Given the description of an element on the screen output the (x, y) to click on. 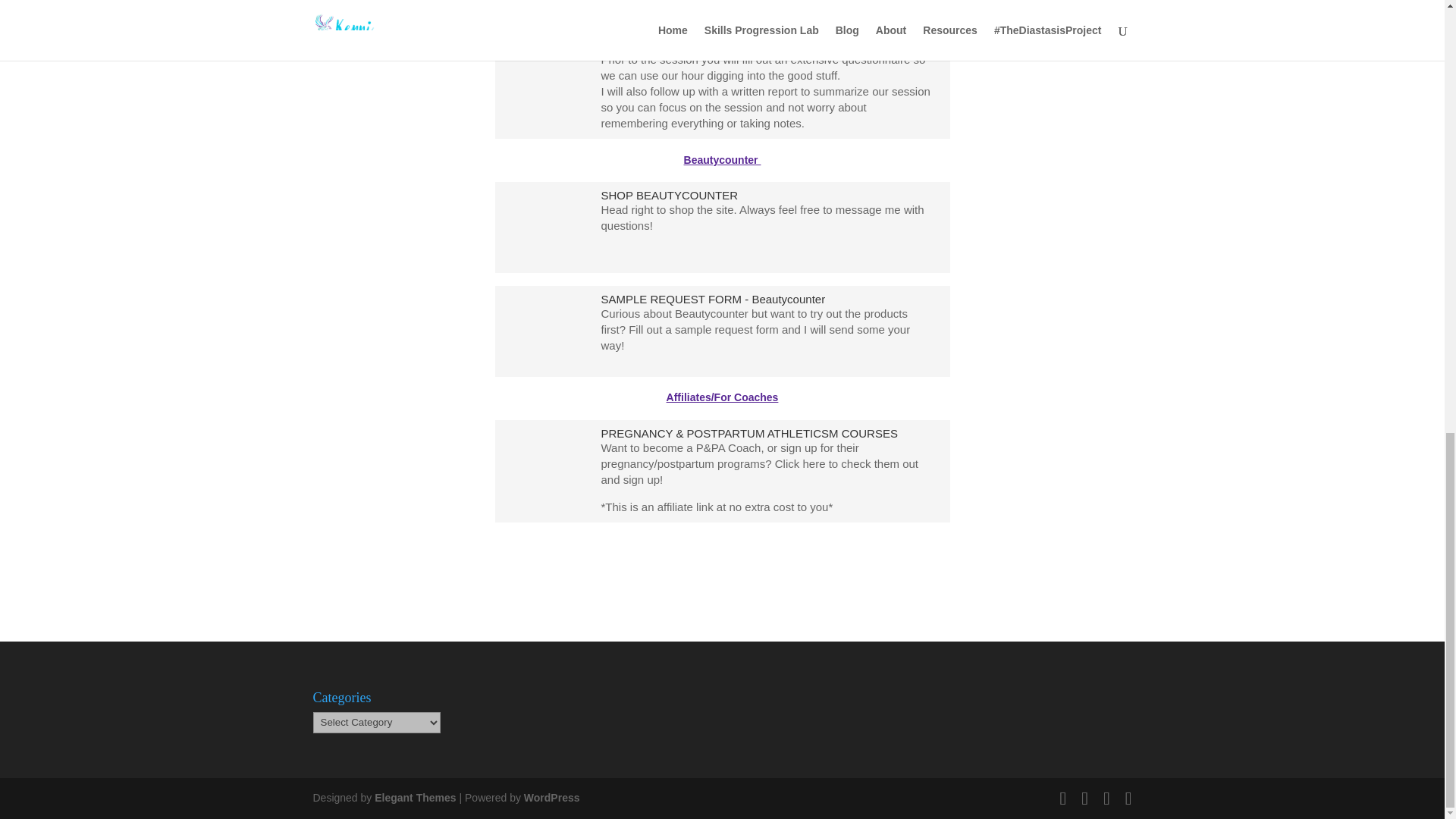
Premium WordPress Themes (414, 797)
WordPress (551, 797)
SAMPLE REQUEST FORM - Beautycounter (712, 298)
SHOP BEAUTYCOUNTER (668, 195)
Elegant Themes (414, 797)
